Given the description of an element on the screen output the (x, y) to click on. 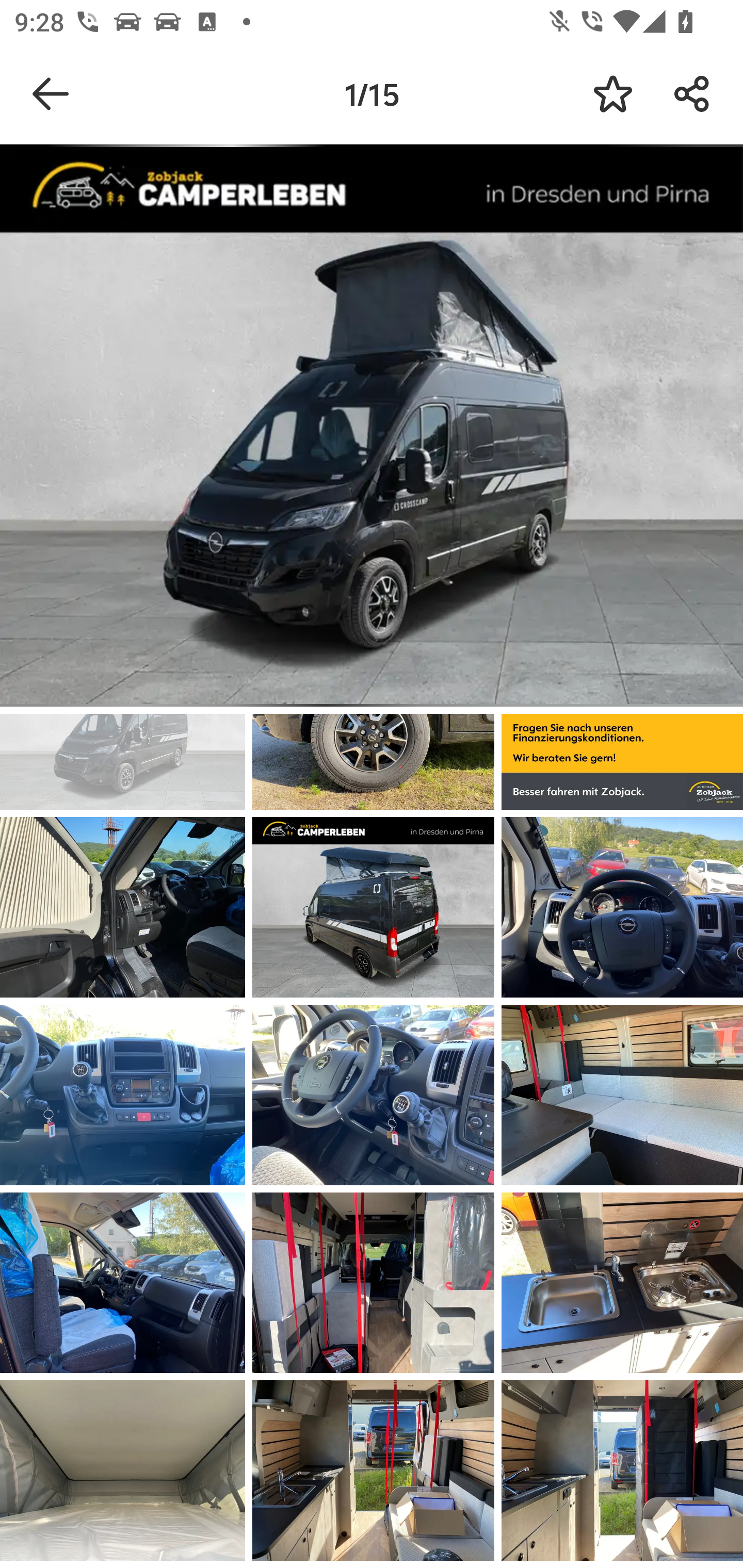
back button (50, 93)
share button (692, 93)
main image view (371, 428)
image (122, 906)
image (373, 906)
image (622, 906)
image (122, 1095)
image (373, 1095)
image (622, 1095)
image (122, 1283)
image (373, 1283)
image (622, 1283)
image (122, 1469)
image (373, 1469)
image (622, 1469)
